Given the description of an element on the screen output the (x, y) to click on. 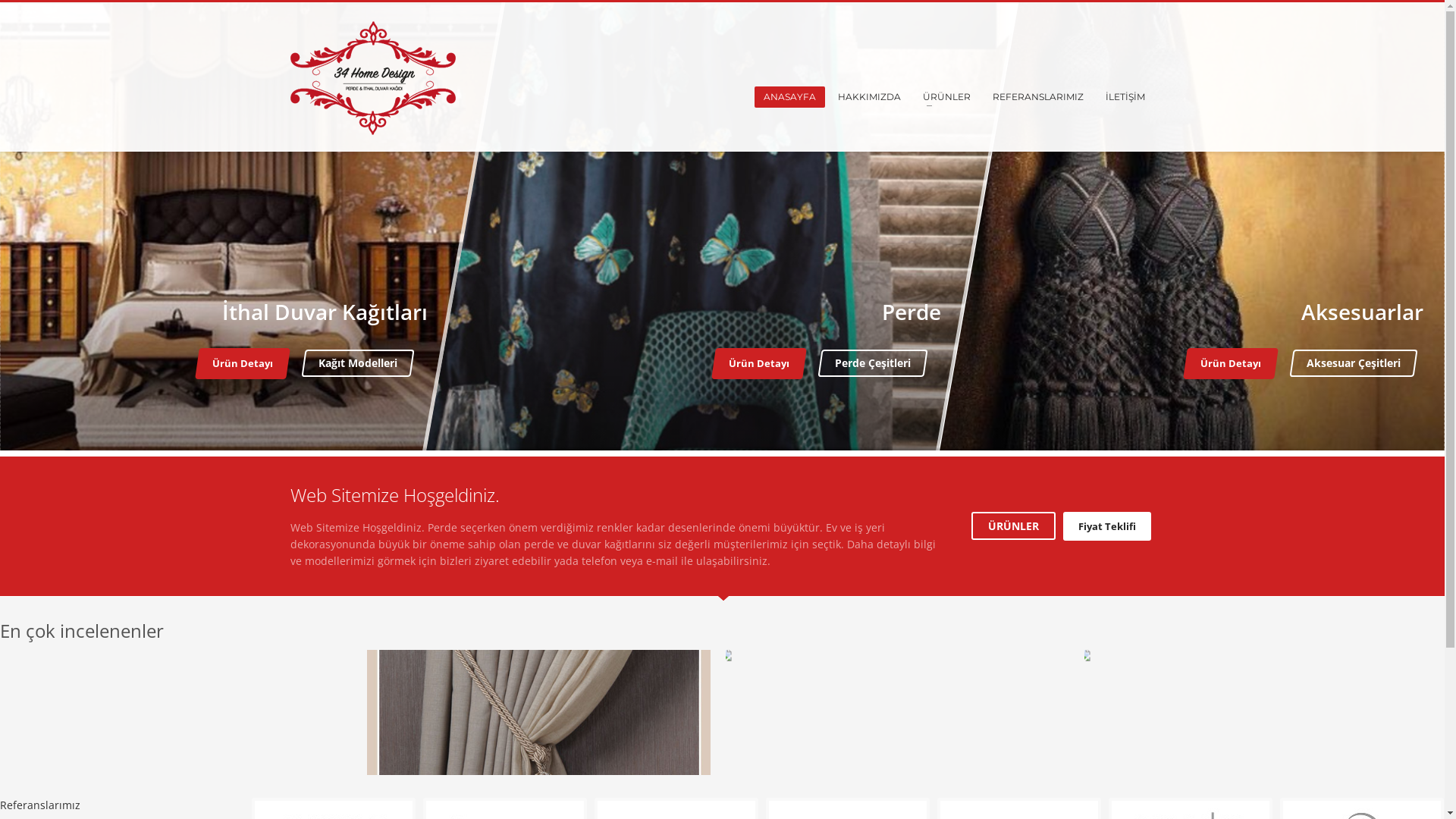
REFERANSLARIMIZ Element type: text (1037, 96)
ANASAYFA Element type: text (789, 96)
Fiyat Teklifi Element type: text (1107, 525)
HAKKIMIZDA Element type: text (869, 96)
